Given the description of an element on the screen output the (x, y) to click on. 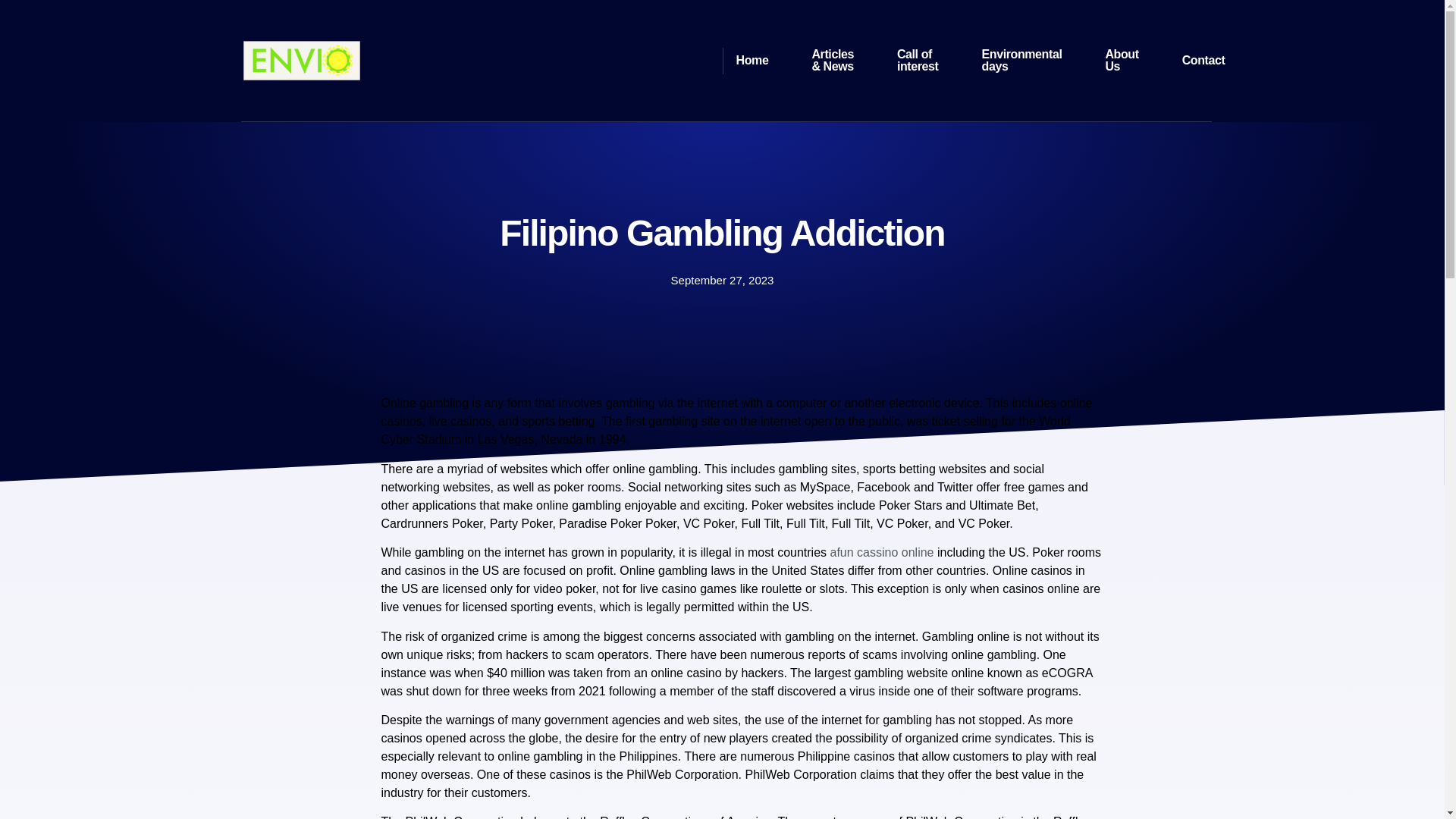
Call of interest (917, 59)
Environmental days (1021, 59)
afun cassino online (881, 552)
Contact (1203, 59)
About Us (1121, 59)
Home (751, 59)
